Given the description of an element on the screen output the (x, y) to click on. 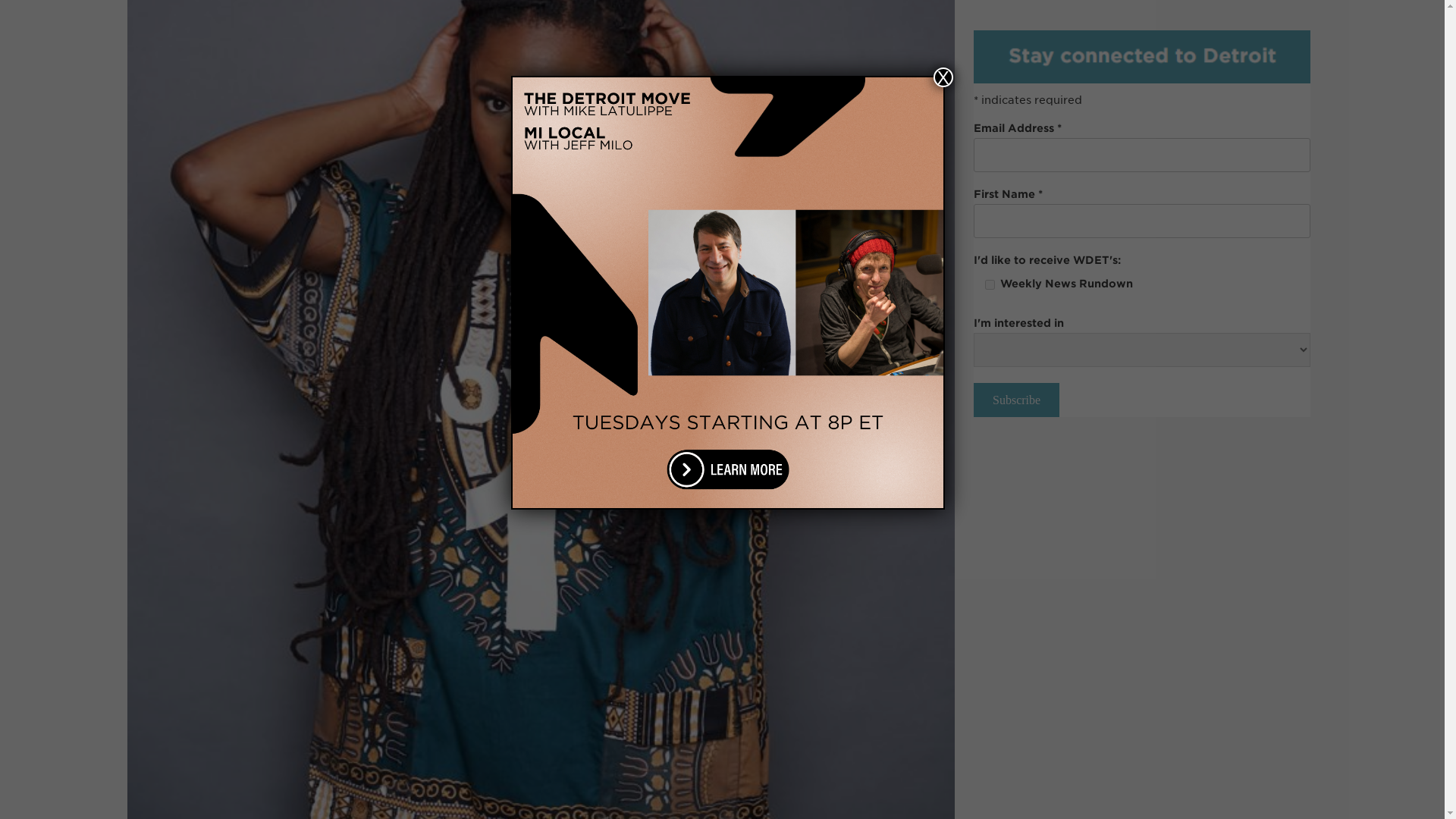
3rd party ad content (1142, 88)
